Given the description of an element on the screen output the (x, y) to click on. 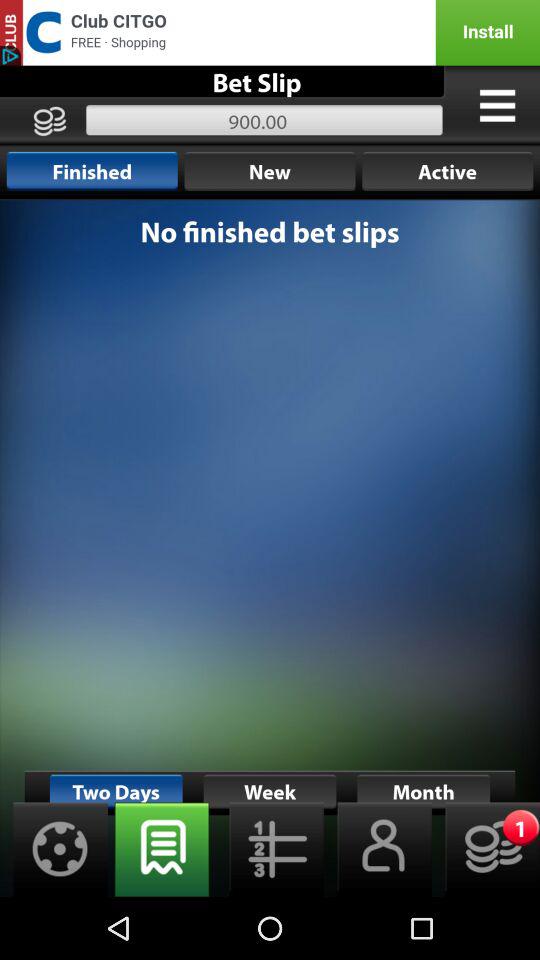
main interface (270, 548)
